Given the description of an element on the screen output the (x, y) to click on. 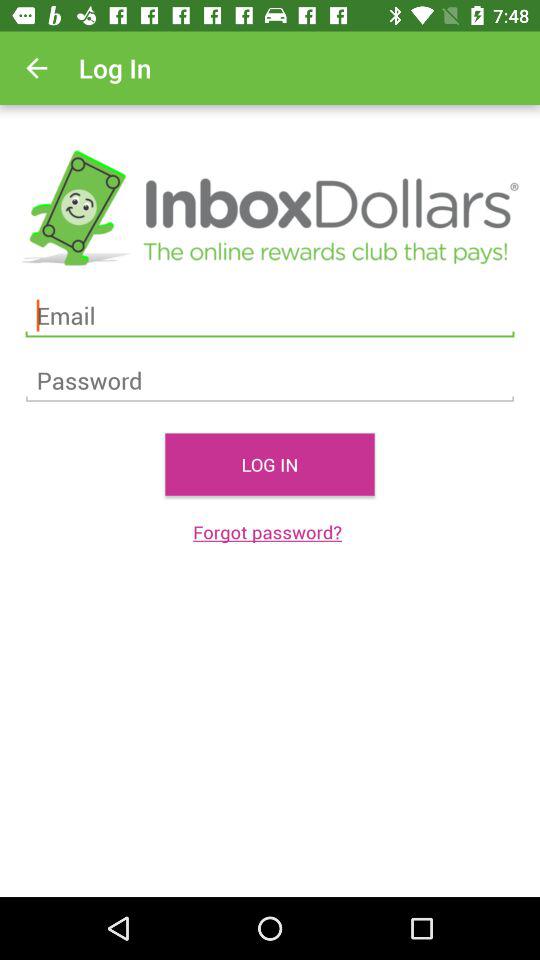
fill in the email space provided (270, 316)
